Given the description of an element on the screen output the (x, y) to click on. 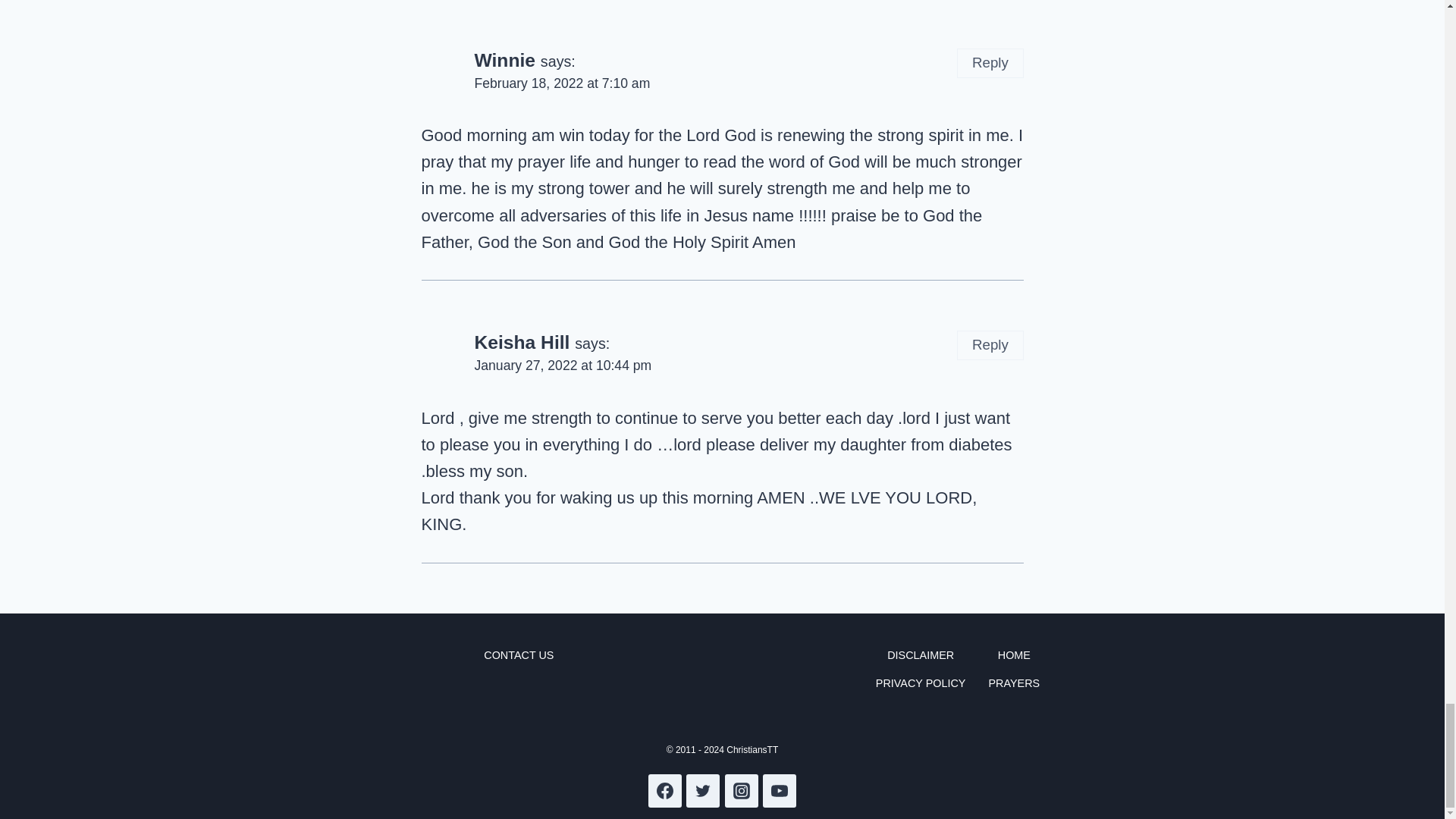
February 18, 2022 at 7:10 am (562, 83)
Reply (989, 345)
January 27, 2022 at 10:44 pm (563, 365)
Reply (989, 62)
DISCLAIMER (919, 654)
CONTACT US (518, 654)
